Given the description of an element on the screen output the (x, y) to click on. 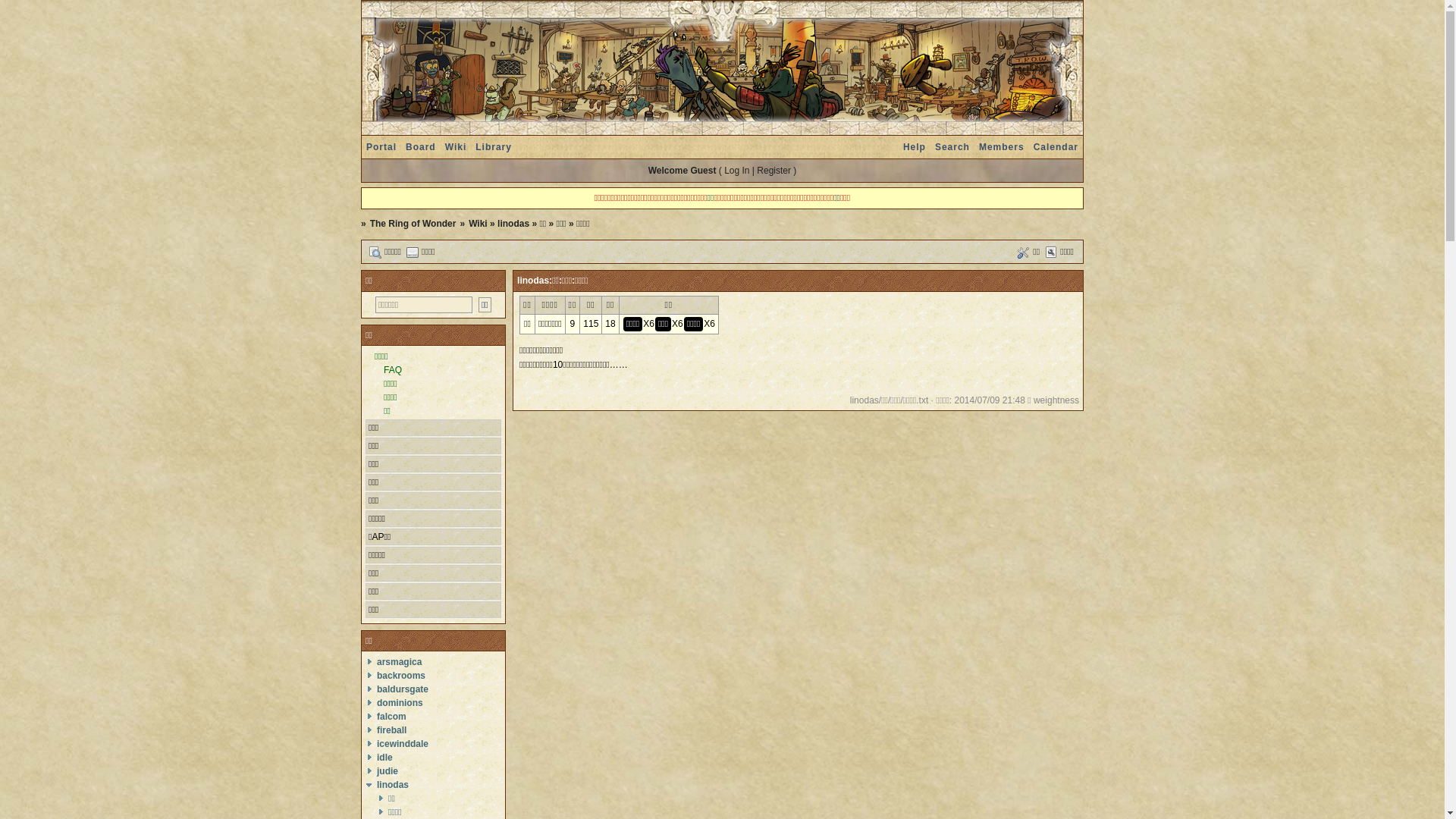
falcom Element type: text (391, 716)
dominions Element type: text (399, 702)
FAQ Element type: text (392, 369)
Help Element type: text (914, 146)
baldursgate Element type: text (402, 689)
arsmagica Element type: text (398, 661)
Members Element type: text (1001, 146)
fireball Element type: text (391, 729)
Calendar Element type: text (1055, 146)
Portal Element type: text (381, 146)
Library Element type: text (493, 146)
idle Element type: text (384, 757)
judie Element type: text (387, 770)
The Ring of Wonder Element type: text (413, 223)
Board Element type: text (420, 146)
linodas Element type: text (513, 223)
[F] Element type: hover (423, 304)
linodas Element type: text (392, 784)
Wiki Element type: text (455, 146)
Wiki Element type: text (477, 223)
Log In Element type: text (736, 170)
icewinddale Element type: text (402, 743)
backrooms Element type: text (400, 675)
Search Element type: text (952, 146)
Register Element type: text (773, 170)
